Given the description of an element on the screen output the (x, y) to click on. 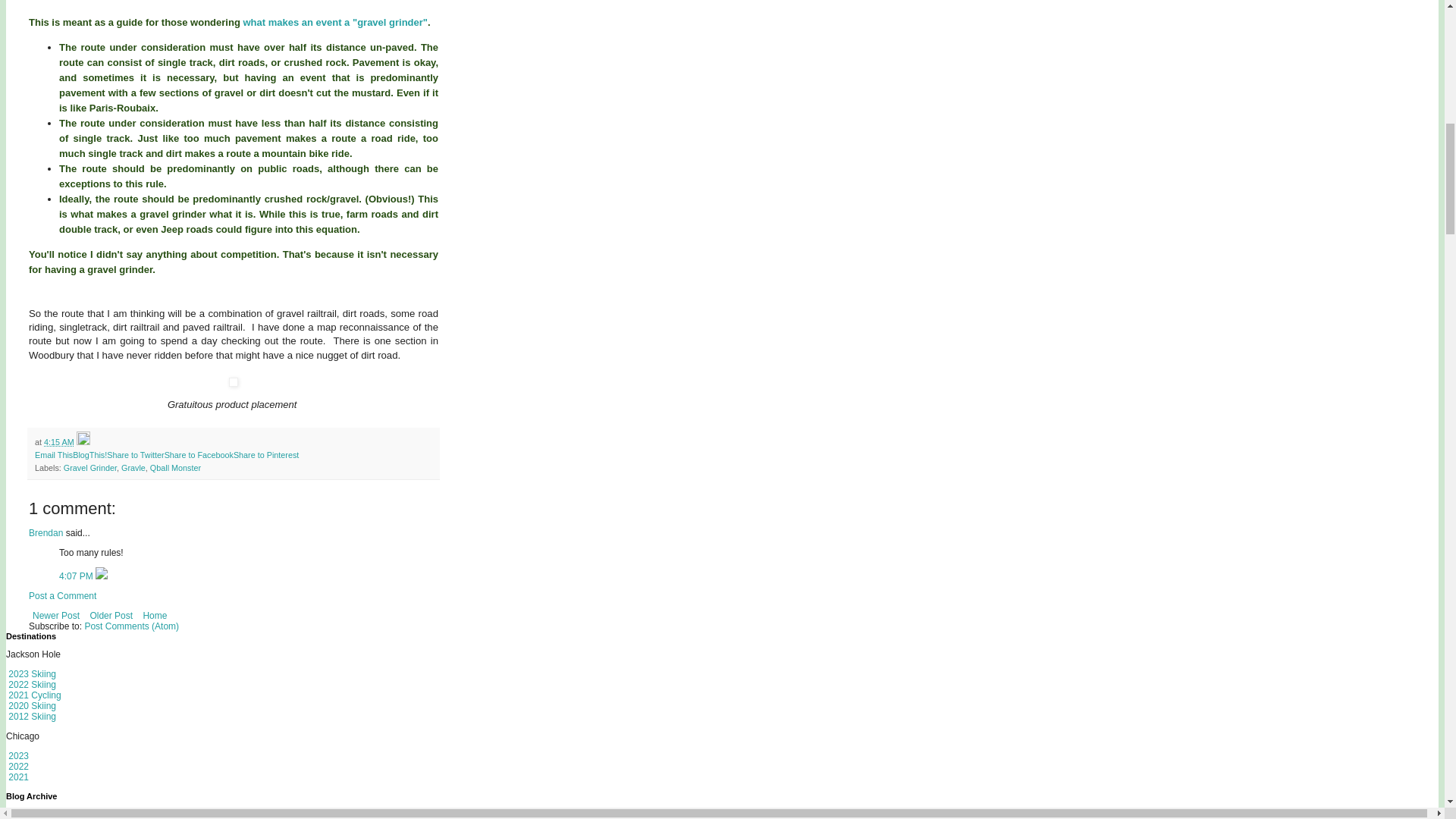
BlogThis! (89, 454)
 2023 Skiing (30, 674)
Post a Comment (62, 595)
Newer Post (55, 615)
Delete Comment (101, 575)
comment permalink (77, 575)
Share to Facebook (198, 454)
Share to Pinterest (265, 454)
Home (154, 615)
Share to Twitter (134, 454)
Gravle (132, 467)
Email This (53, 454)
 2022 Skiing (30, 684)
Gravel Grinder (90, 467)
Older Post (110, 615)
